Given the description of an element on the screen output the (x, y) to click on. 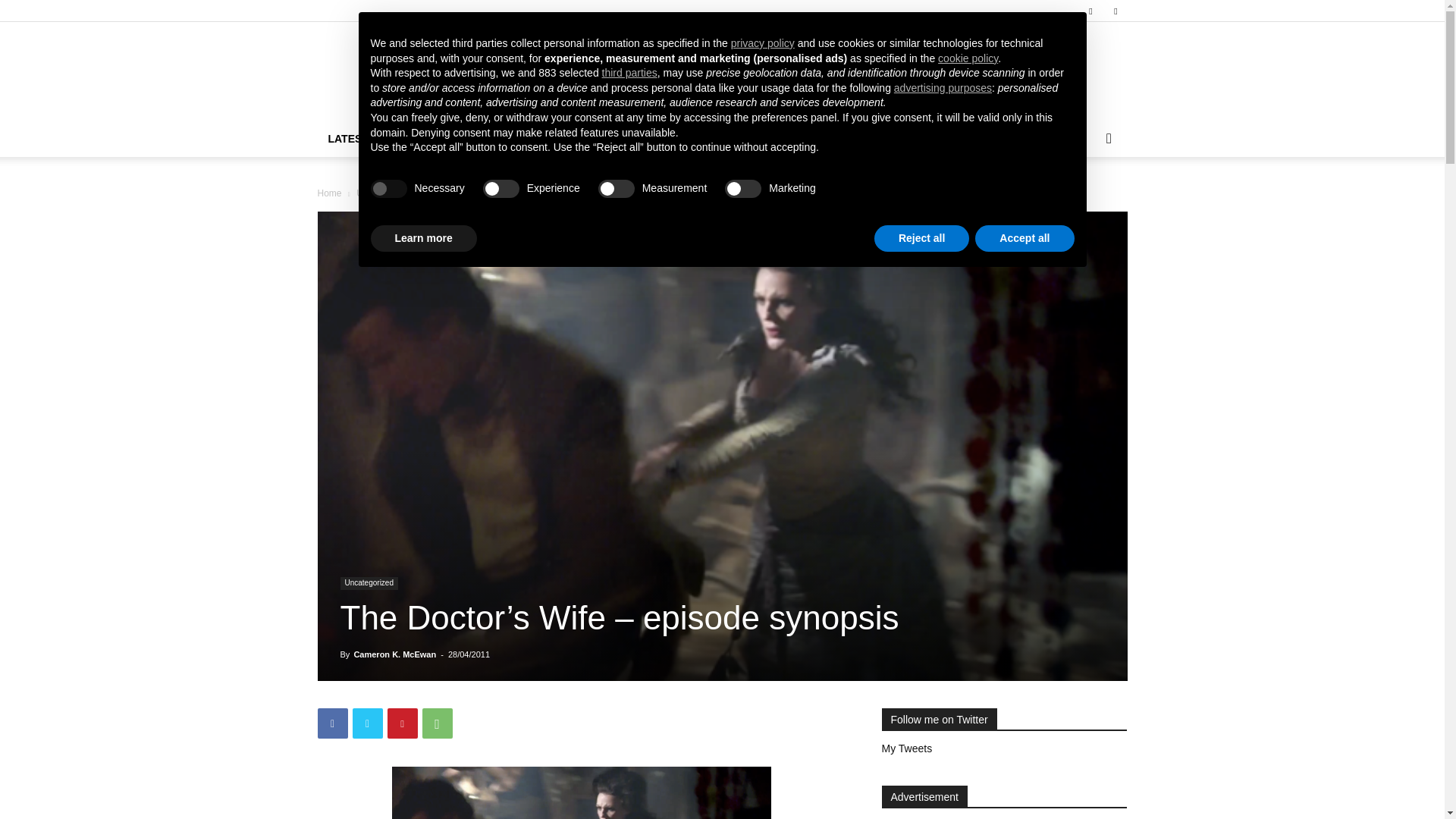
BIG FINISH (827, 138)
false (743, 188)
Twitter (1114, 10)
TITAN COMICS (914, 138)
View all posts in Uncategorized (385, 193)
WhatsApp (436, 723)
true (387, 188)
false (616, 188)
60TH ANNIVERSARY SPECIALS (601, 138)
Home (328, 193)
IN OTHER WORLDS (1023, 138)
Uncategorized (368, 583)
Facebook (1090, 10)
LATEST NEWS (365, 138)
